Given the description of an element on the screen output the (x, y) to click on. 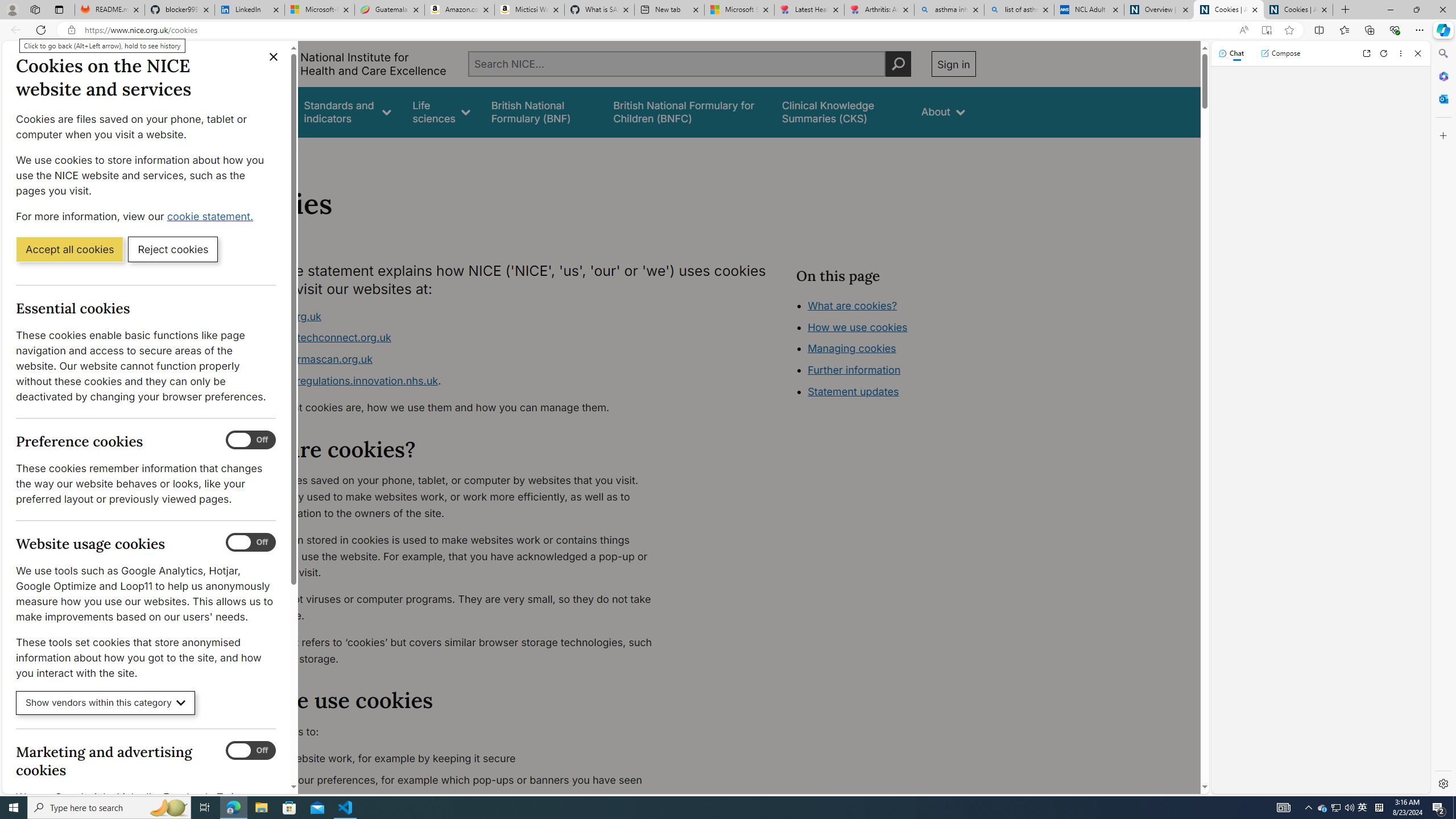
false (841, 111)
Compose (1280, 52)
British National Formulary for Children (BNFC) (686, 111)
Show vendors within this category (105, 703)
Managing cookies (852, 348)
asthma inhaler - Search (949, 9)
Home> (246, 152)
Close cookie banner (273, 56)
